Given the description of an element on the screen output the (x, y) to click on. 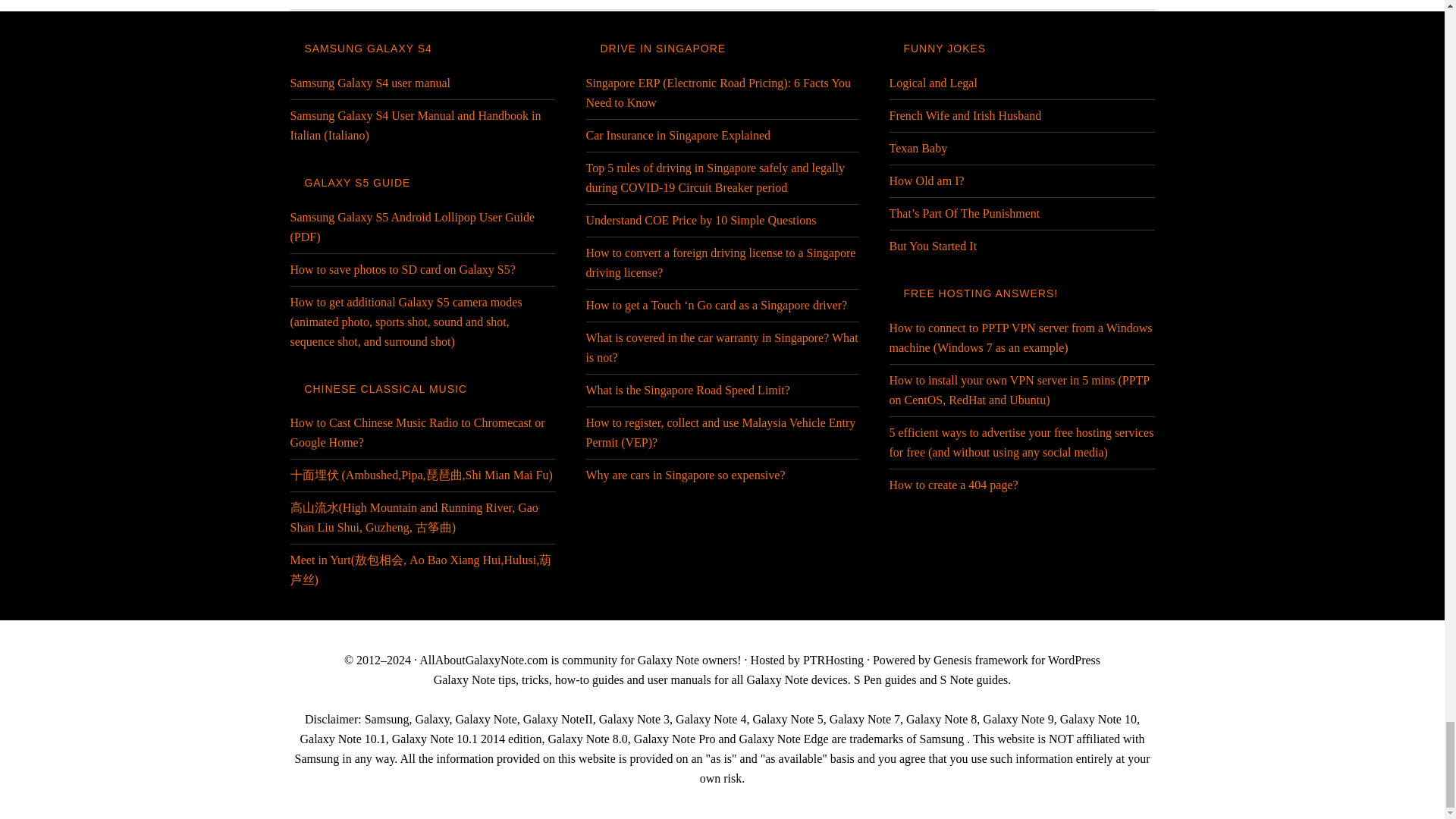
web presence solutions (833, 659)
